Given the description of an element on the screen output the (x, y) to click on. 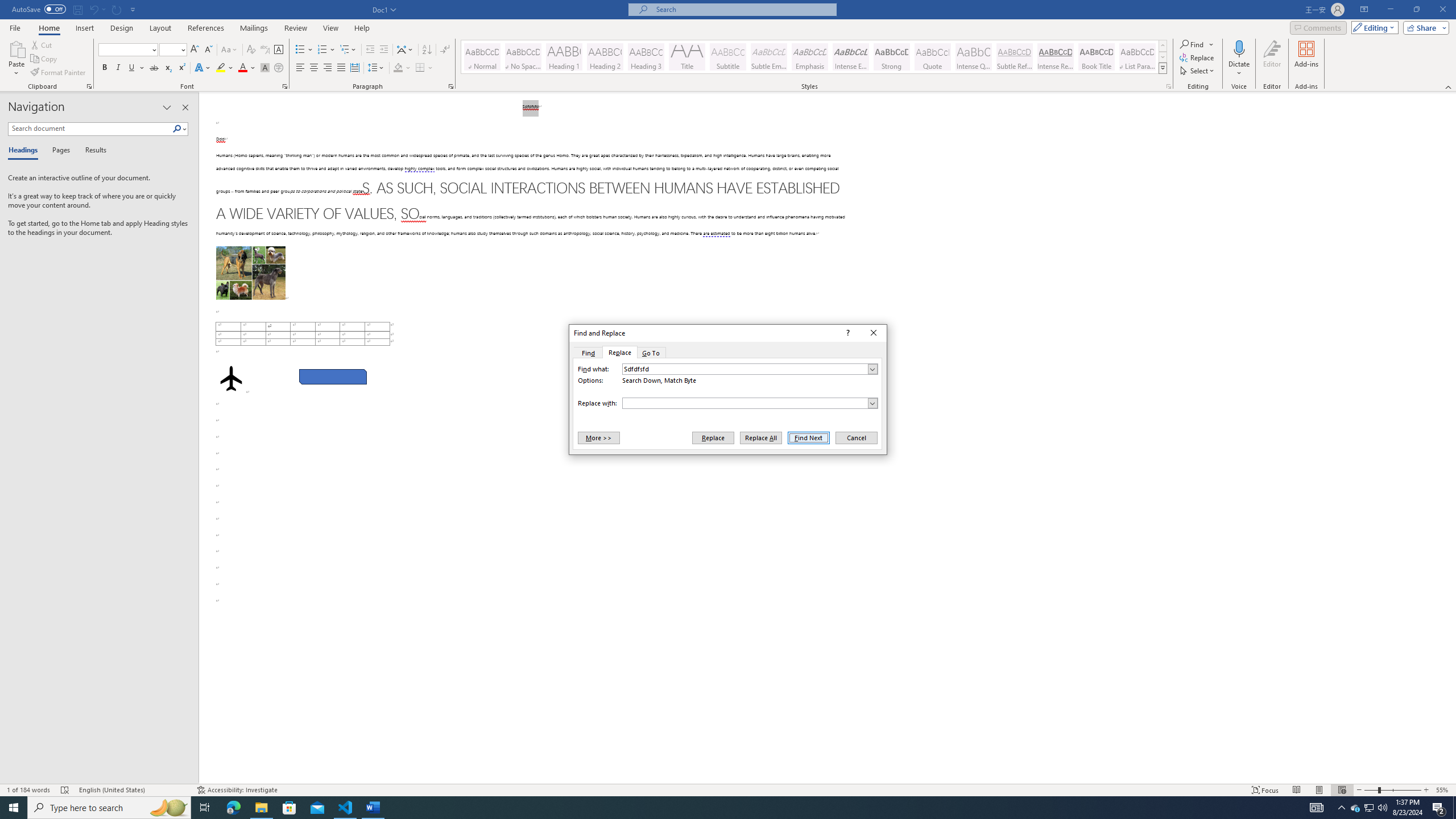
Bullets (300, 49)
Restore Down (1416, 9)
Pages (59, 150)
Show desktop (1454, 807)
Change Case (229, 49)
AutoSave (38, 9)
Heading 3 (646, 56)
Show/Hide Editing Marks (444, 49)
File Explorer - 1 running window (261, 807)
Strong (891, 56)
Help (361, 28)
Styles... (1168, 85)
Book Title (1095, 56)
Select (1197, 69)
Superscript (180, 67)
